Given the description of an element on the screen output the (x, y) to click on. 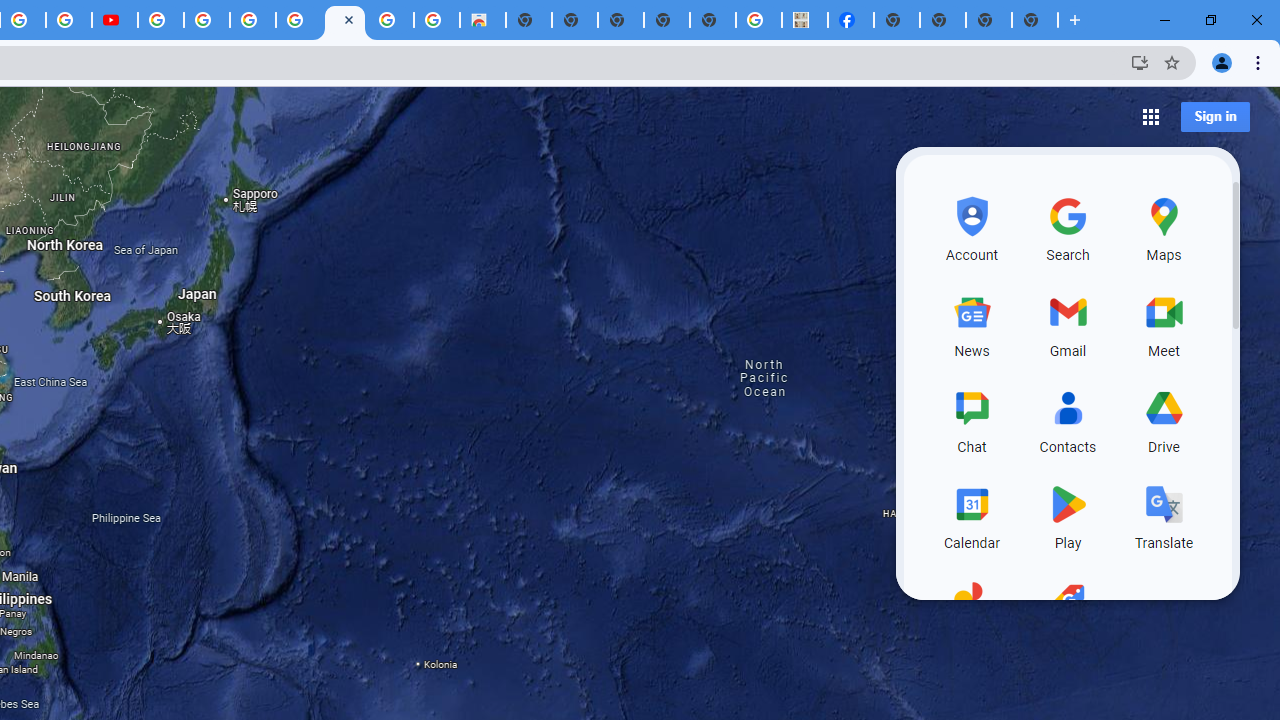
Miley Cyrus | Facebook (851, 20)
Chrome Web Store - Shopping (482, 20)
Sign in (1215, 115)
Subscriptions - YouTube (115, 20)
